Given the description of an element on the screen output the (x, y) to click on. 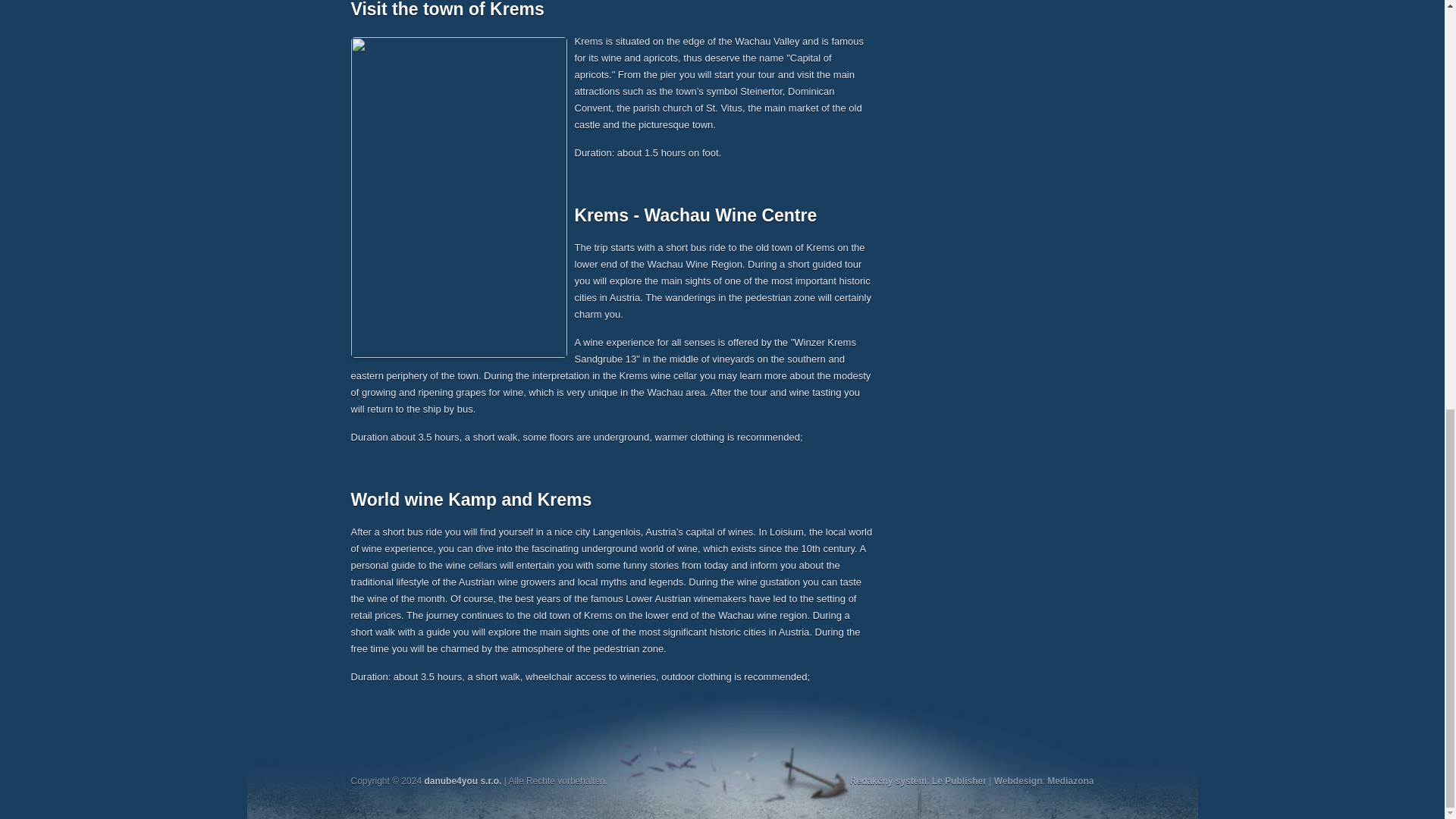
Le Publisher (959, 780)
Webdesign (1018, 780)
Mediazona (1069, 780)
